Given the description of an element on the screen output the (x, y) to click on. 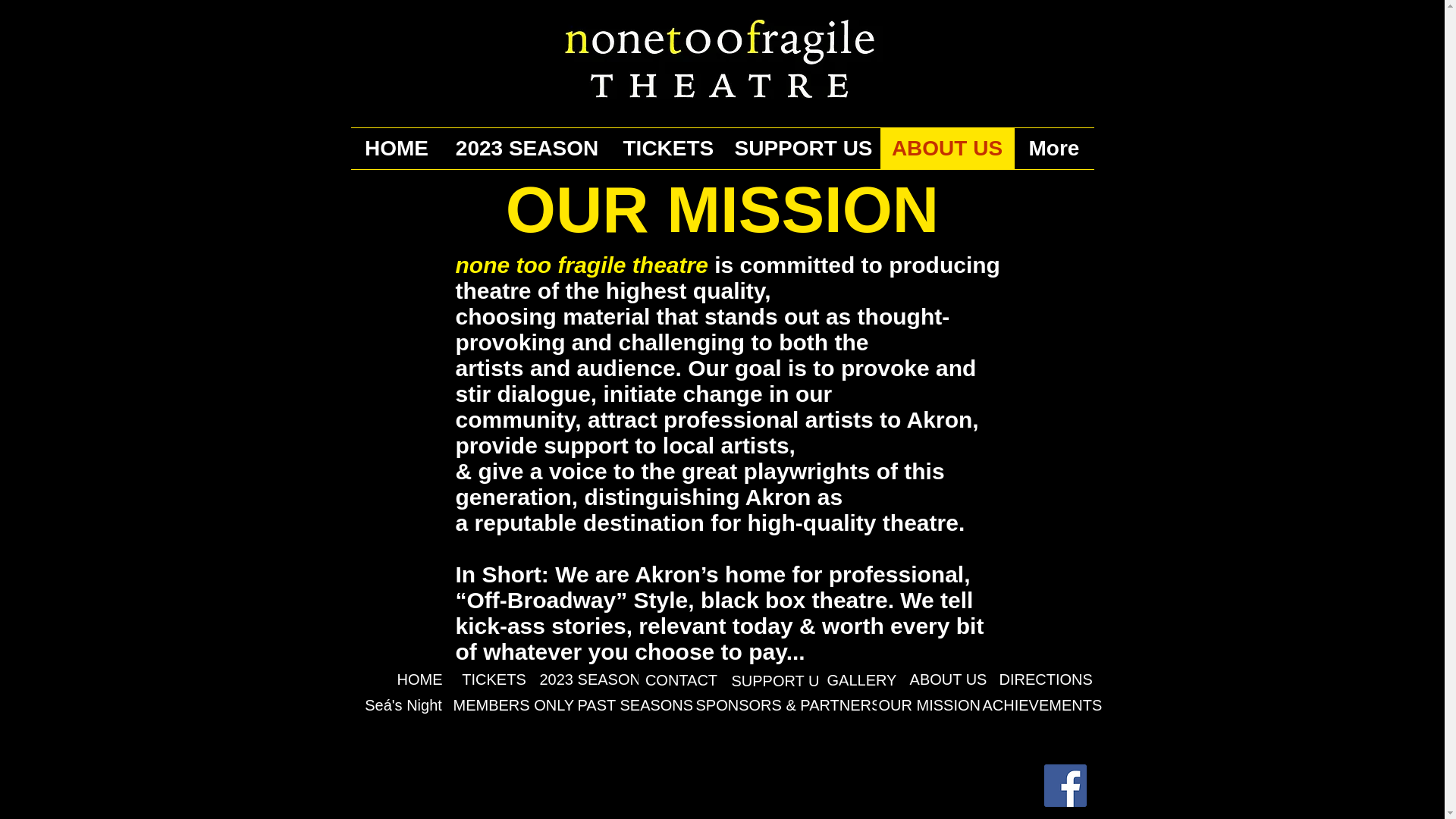
DIRECTIONS (1044, 679)
ABOUT US (946, 147)
MEMBERS ONLY (512, 704)
OUR MISSION (722, 209)
SUPPORT US (780, 680)
2023 SEASON (589, 679)
GALLERY (861, 680)
TICKETS (666, 147)
CONTACT (682, 680)
ABOUT US (948, 679)
2023 SEASON (526, 147)
ACHIEVEMENTS (1041, 704)
PAST SEASONS (635, 704)
HOME (396, 147)
OUR MISSION (929, 704)
